Given the description of an element on the screen output the (x, y) to click on. 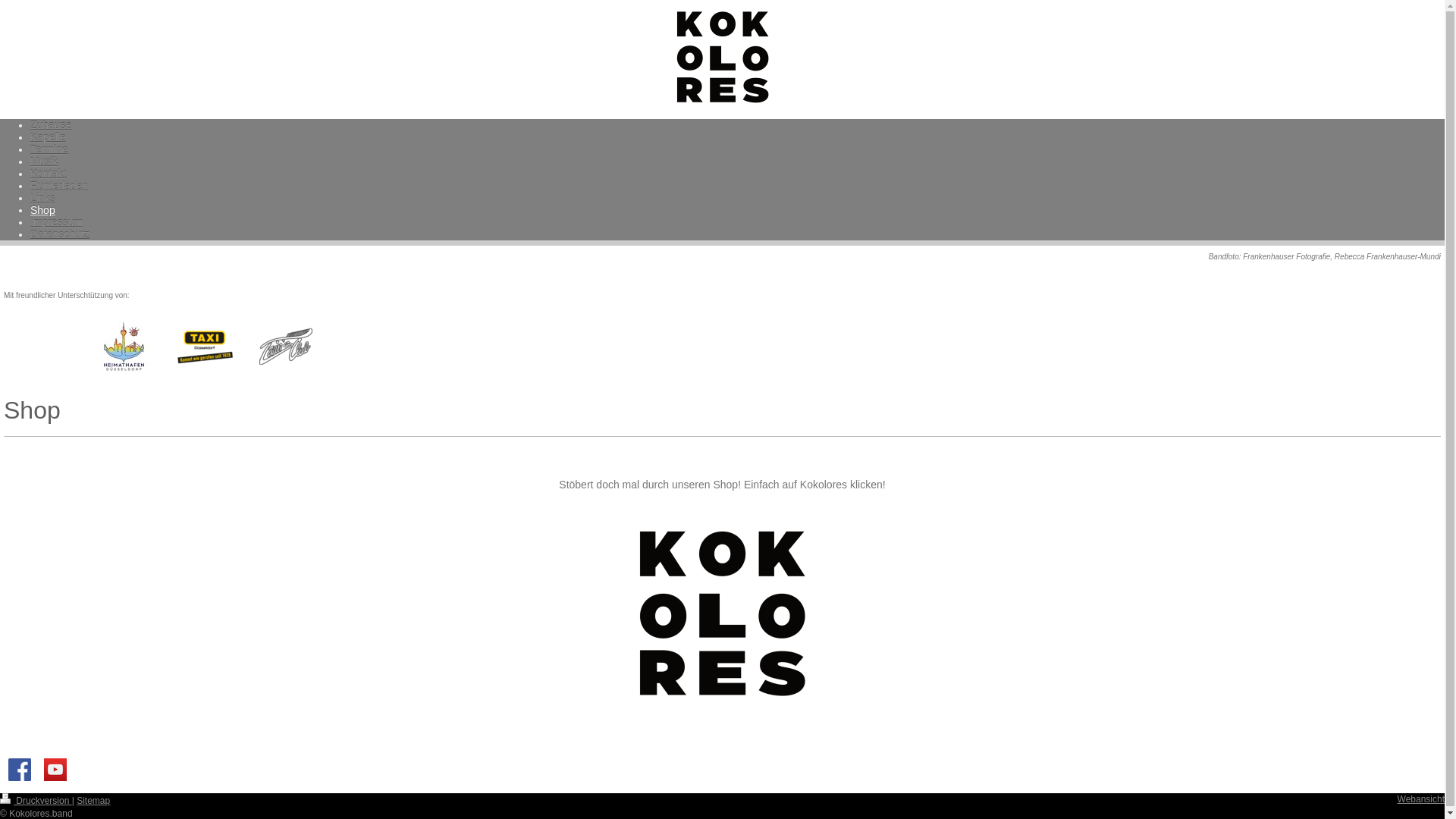
Termine Element type: text (49, 149)
Links Element type: text (42, 197)
Shop Element type: text (42, 209)
Druckversion Element type: text (36, 800)
Impressum Element type: text (56, 222)
Sitemap Element type: text (92, 800)
Datenschutz Element type: text (59, 234)
Zuhause Element type: text (50, 125)
Kapelle Element type: text (47, 137)
Kontakt Element type: text (47, 173)
Runterladen Element type: text (58, 185)
Webansicht Element type: text (1420, 798)
Musik Element type: text (44, 161)
